Given the description of an element on the screen output the (x, y) to click on. 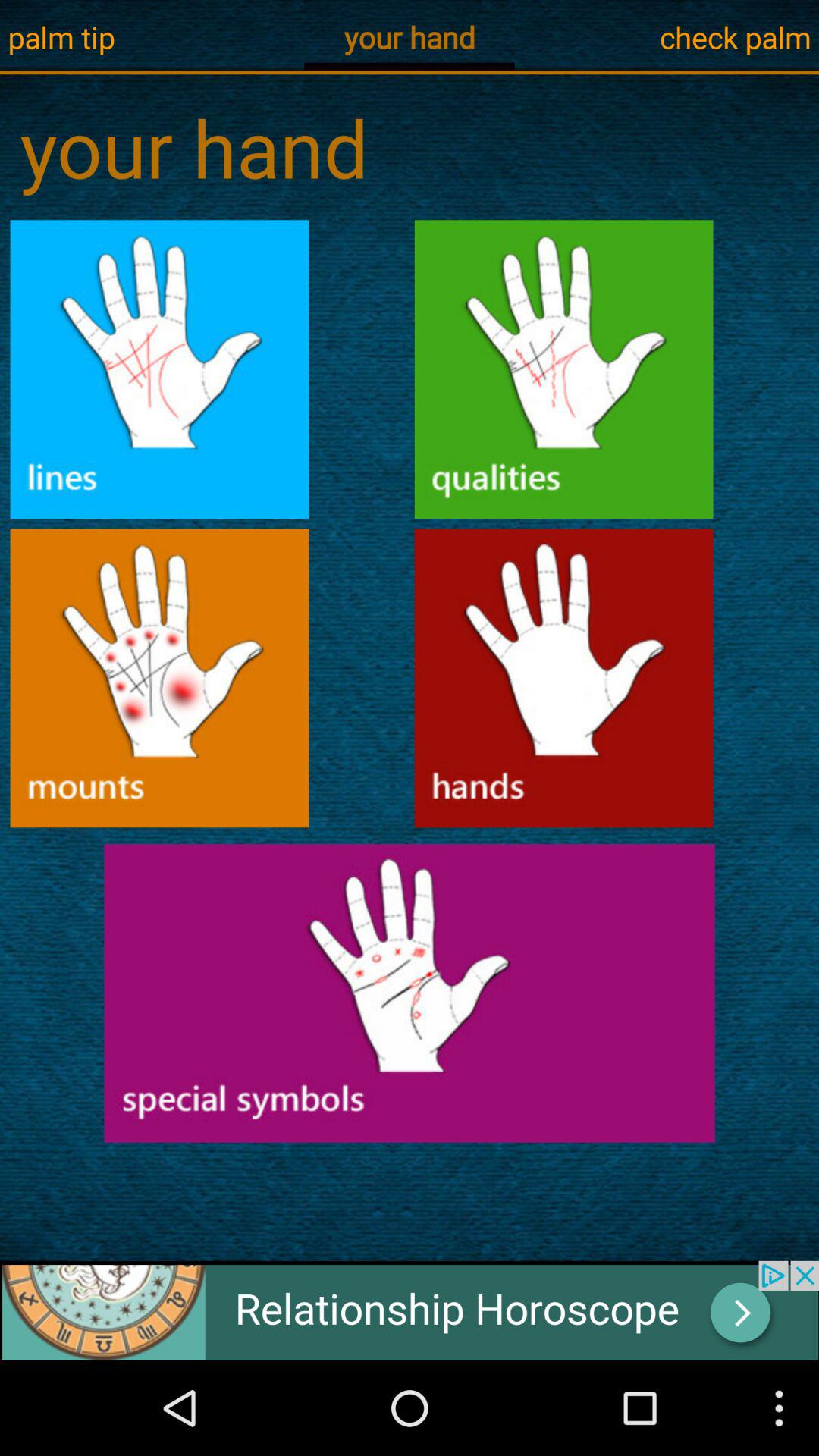
icon for hand qualities (563, 369)
